Given the description of an element on the screen output the (x, y) to click on. 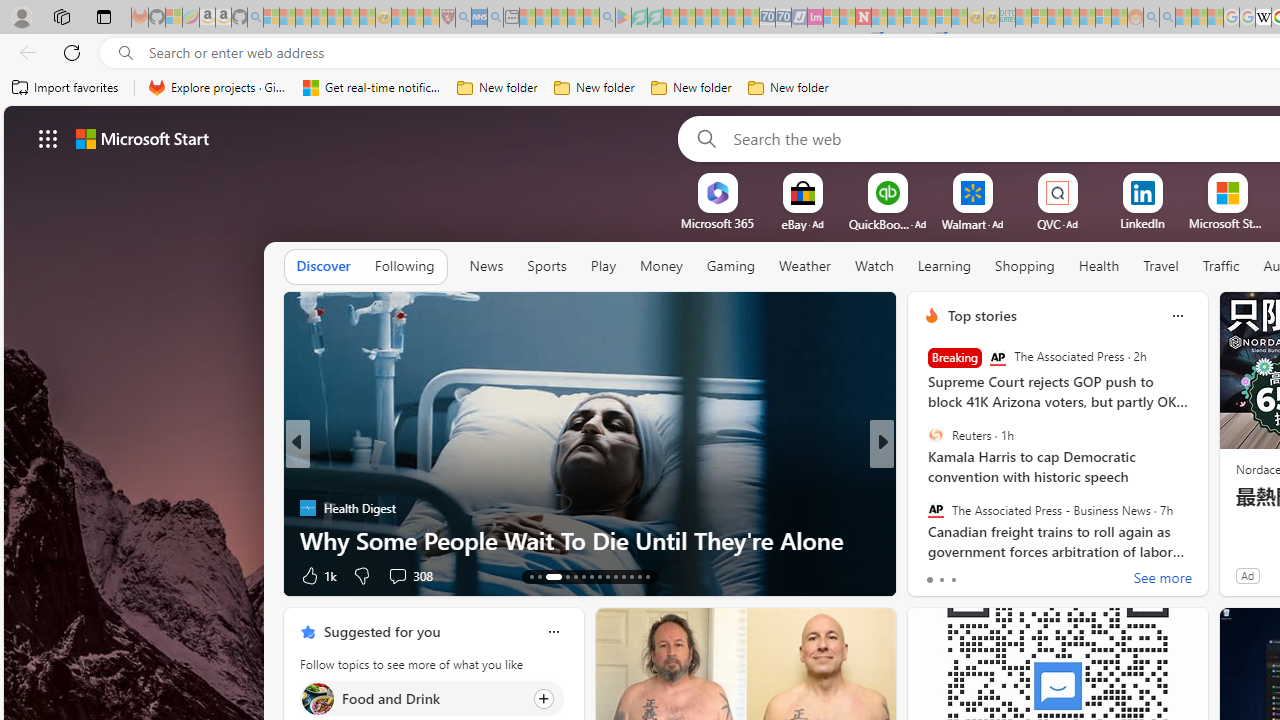
View comments 6 Comment (1014, 575)
View comments 81 Comment (1029, 574)
tab-1 (941, 579)
28 Like (934, 574)
The Associated Press - Business News (935, 509)
AutomationID: tab-26 (646, 576)
69 Like (934, 574)
